Given the description of an element on the screen output the (x, y) to click on. 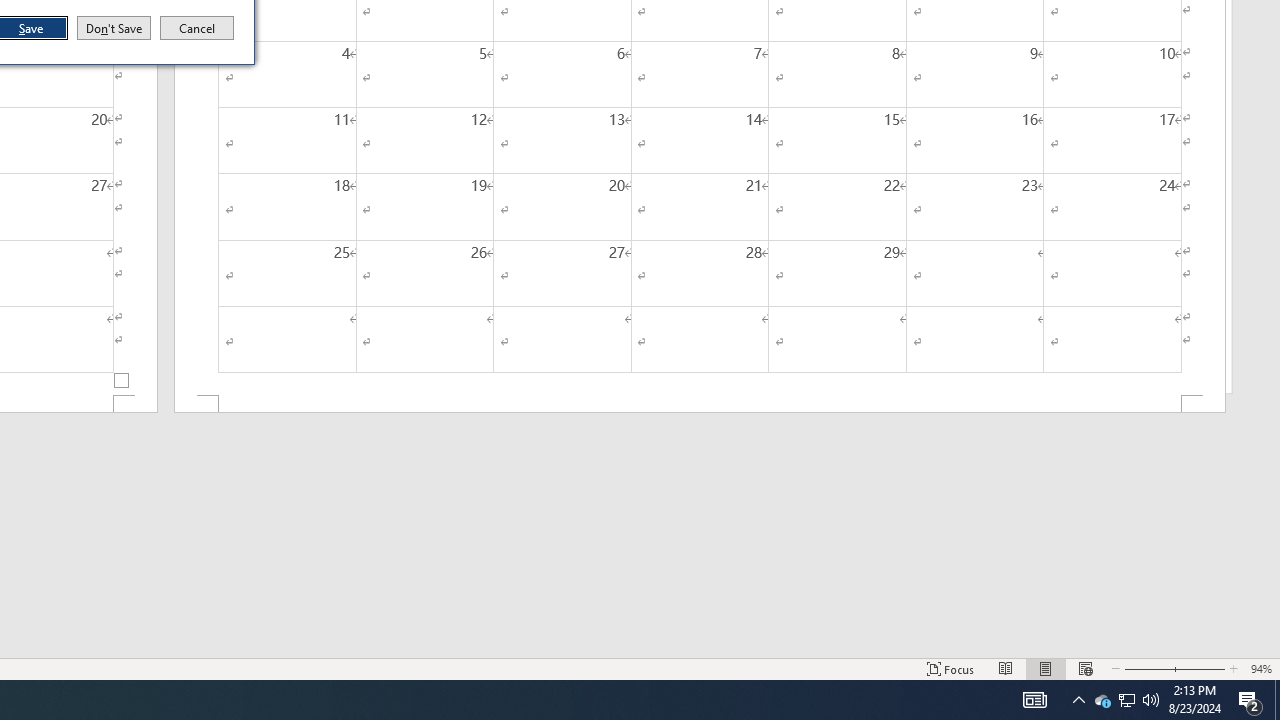
Notification Chevron (1078, 699)
Don't Save (113, 27)
Cancel (197, 27)
Zoom Out (1126, 699)
Web Layout (1147, 668)
